Given the description of an element on the screen output the (x, y) to click on. 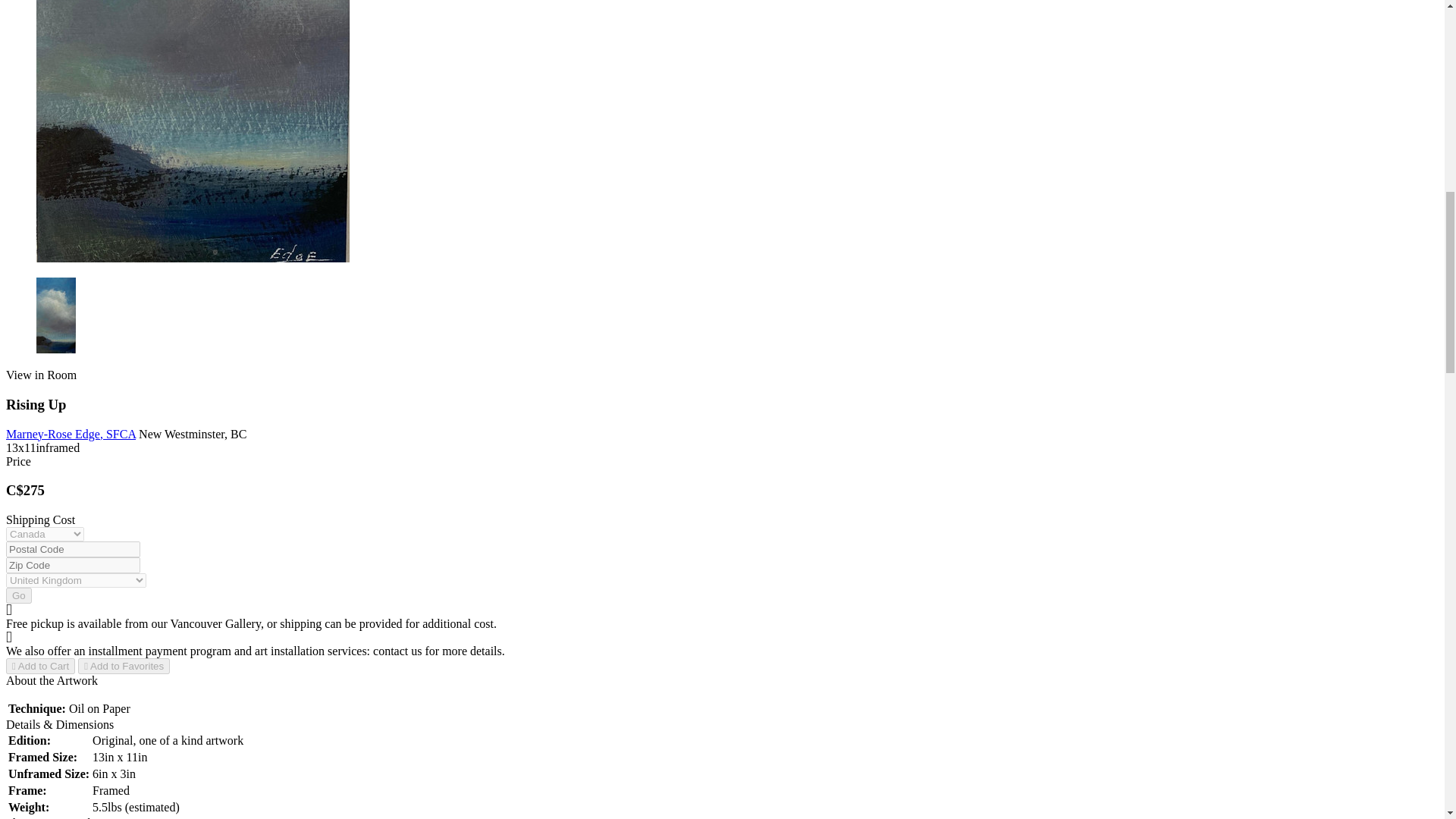
Add to Cart (40, 666)
Go (18, 595)
Marney-Rose Edge, SFCA (70, 433)
Add to Favorites (124, 666)
Rising Up (192, 131)
